Given the description of an element on the screen output the (x, y) to click on. 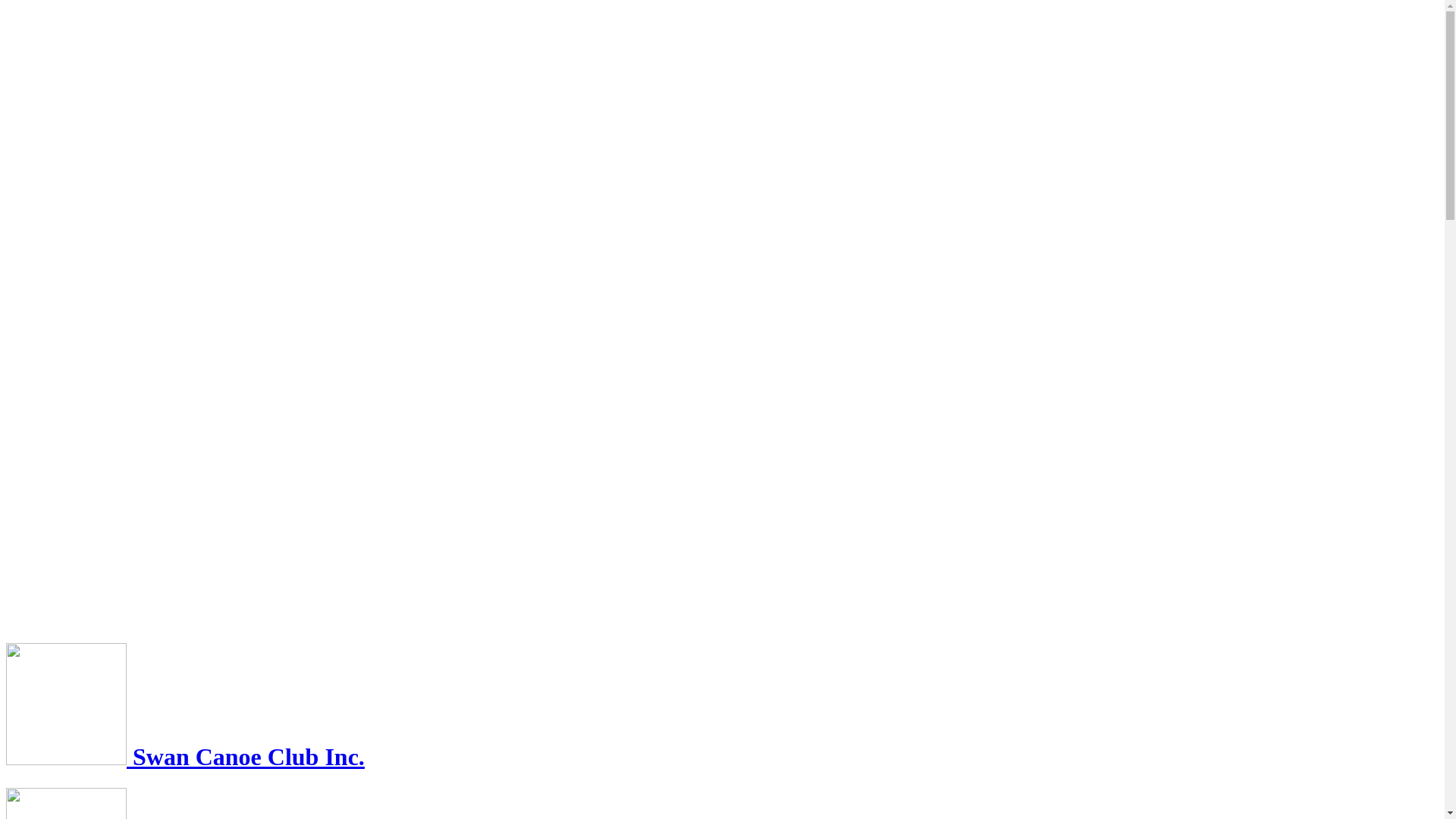
Swan Canoe Club Inc. Element type: text (185, 756)
